Given the description of an element on the screen output the (x, y) to click on. 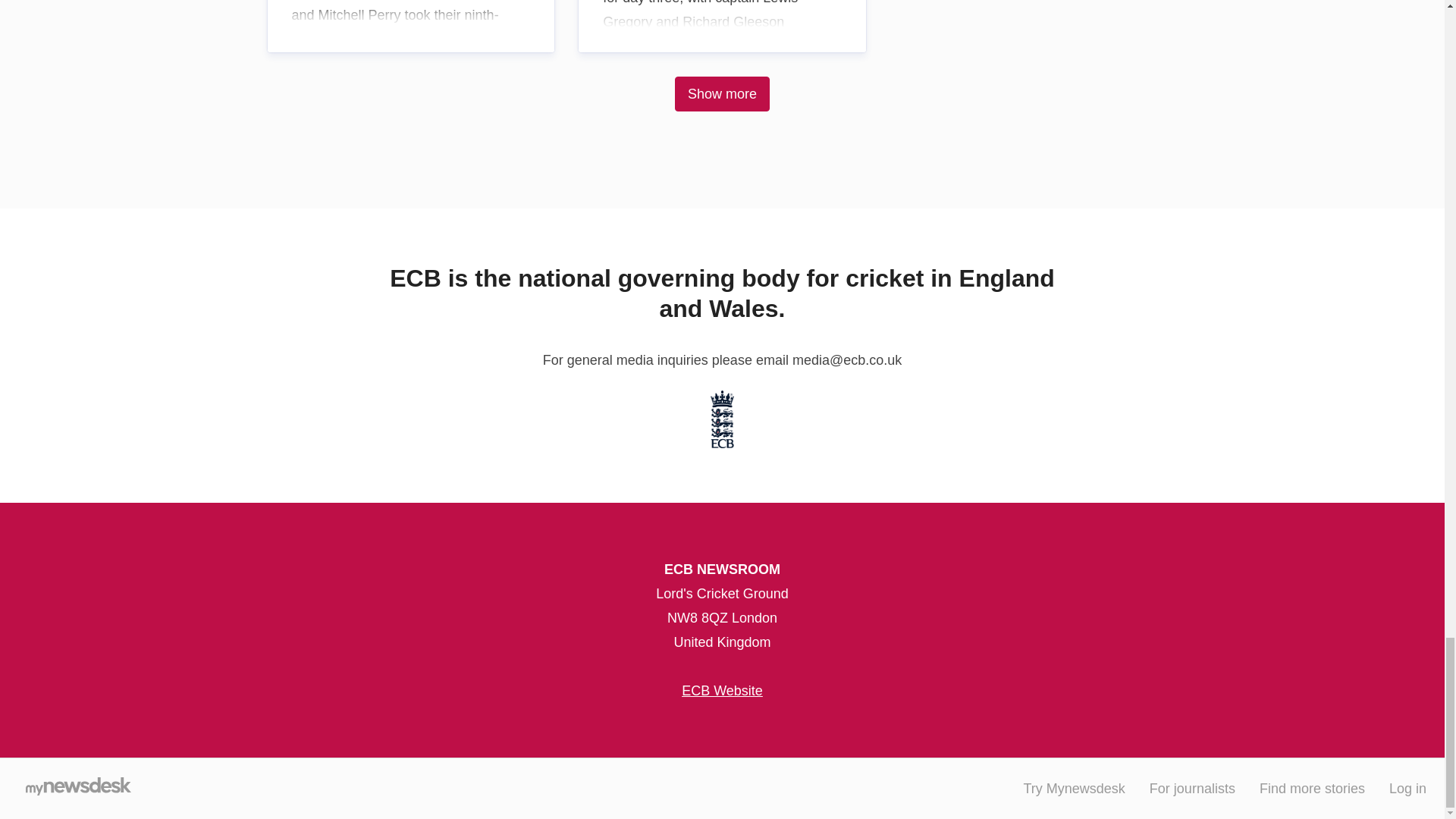
Find more stories (1312, 788)
ECB Website (721, 690)
Show more (722, 93)
Try Mynewsdesk (1074, 788)
Go to mynewsdesk.com (77, 788)
For journalists (1192, 788)
